Given the description of an element on the screen output the (x, y) to click on. 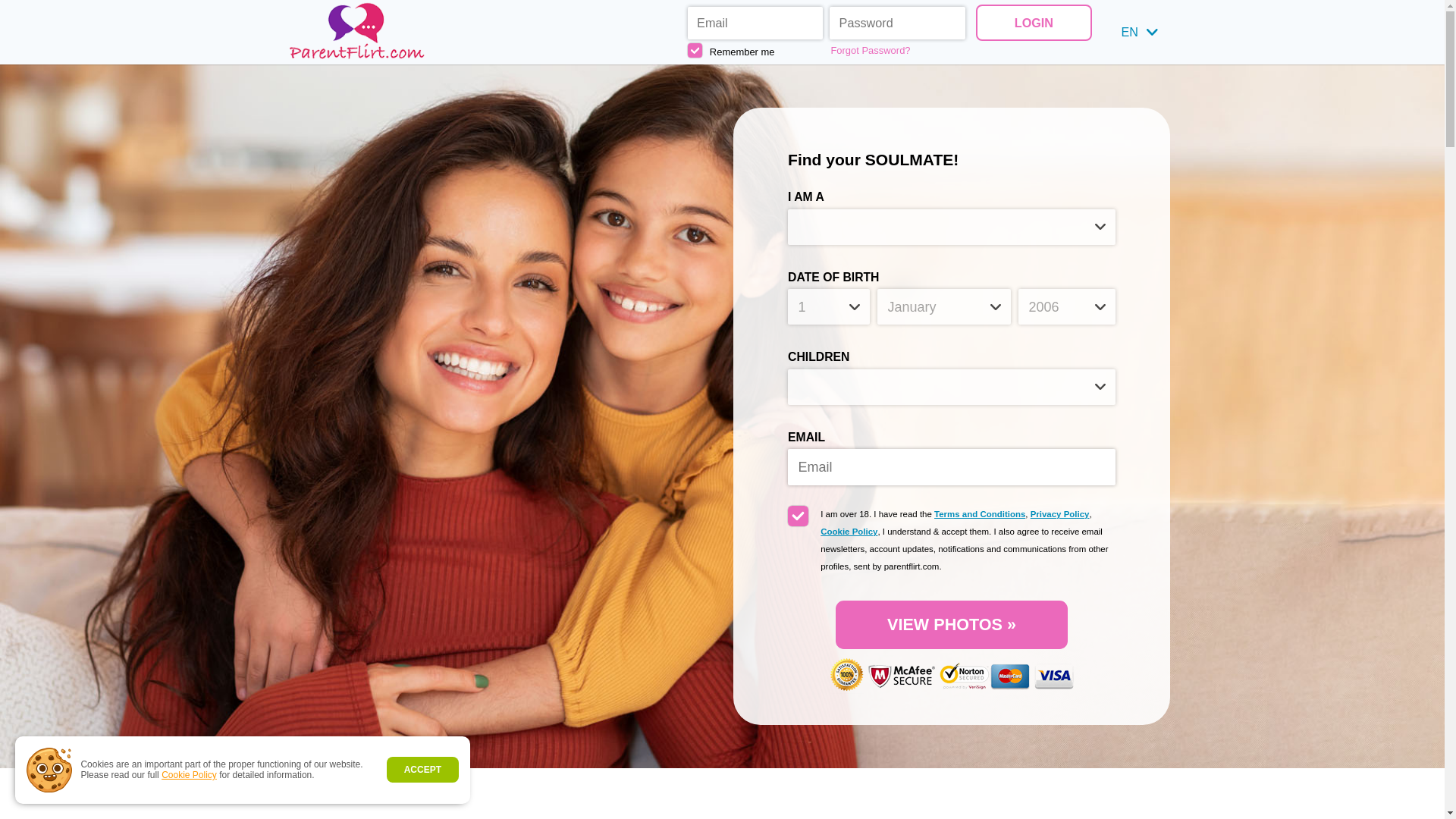
Privacy Policy (1059, 513)
LOGIN (1032, 22)
Forgot Password? (897, 50)
EN (1139, 32)
Cookie Policy (188, 774)
Cookie Policy (849, 531)
Terms and Conditions (979, 513)
